Given the description of an element on the screen output the (x, y) to click on. 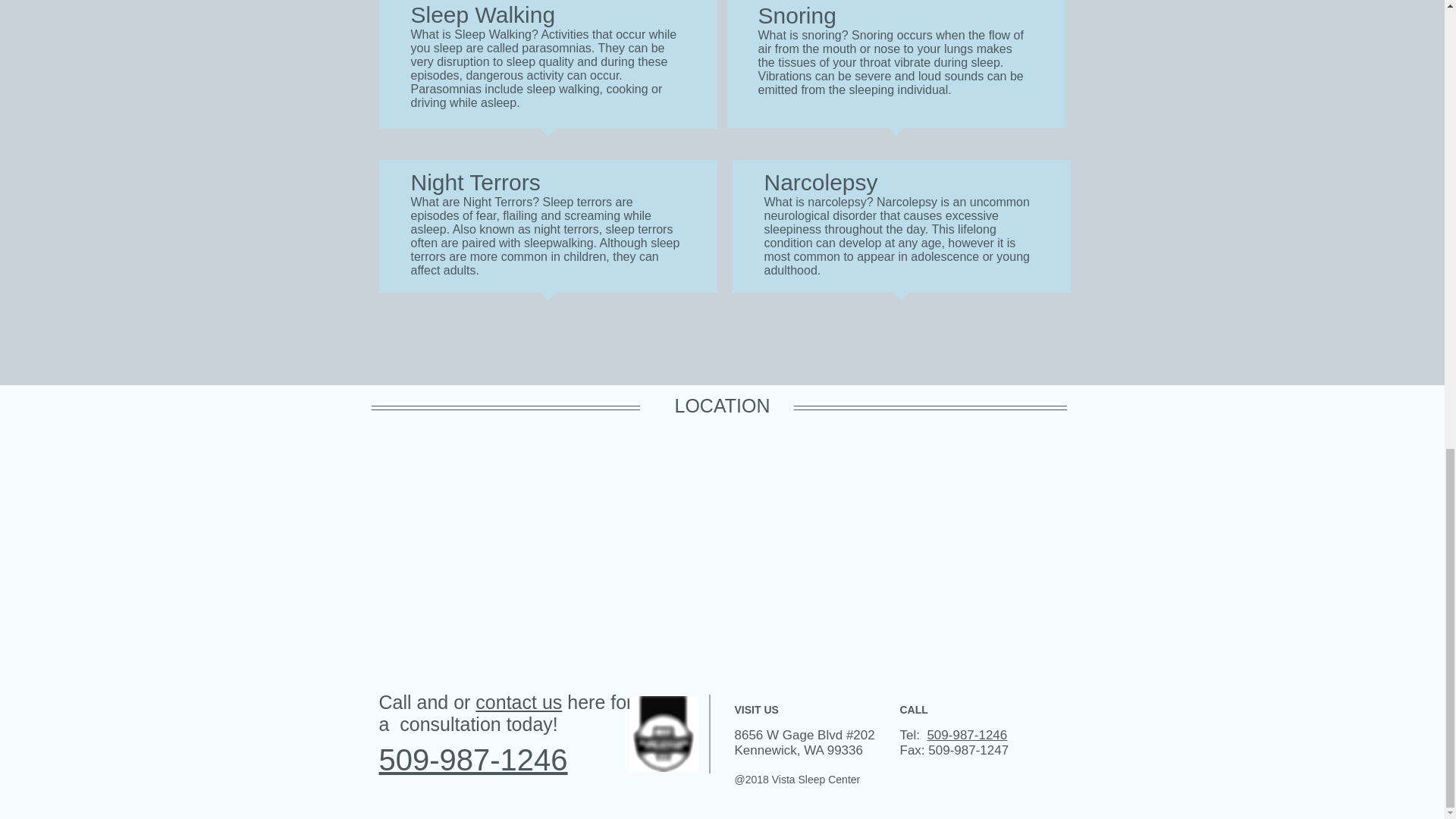
sleep.png (663, 733)
contact us (519, 701)
509-987-1246 (966, 734)
509-987-1246 (472, 758)
